Given the description of an element on the screen output the (x, y) to click on. 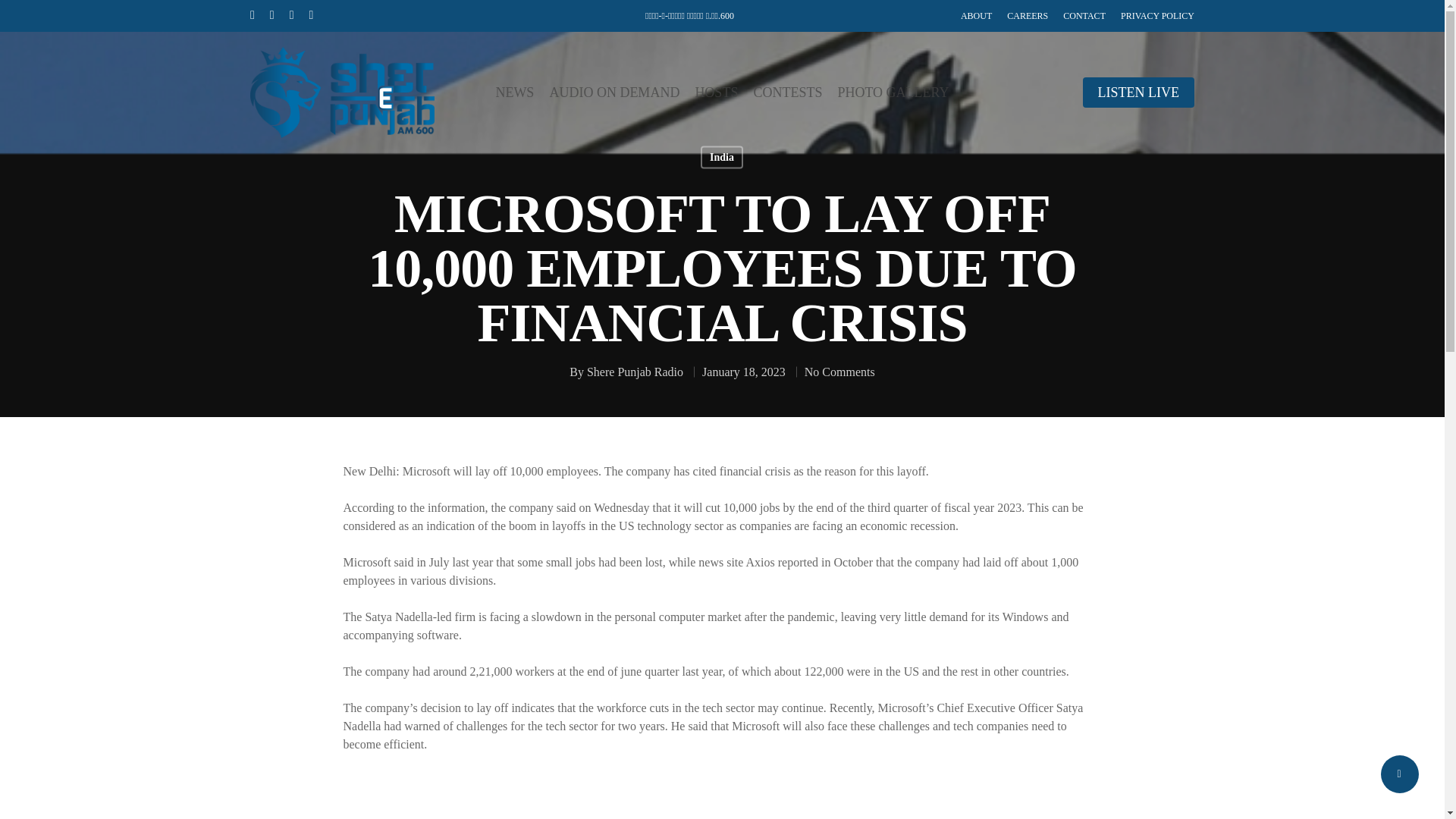
NEWS (514, 92)
No Comments (840, 371)
AUDIO ON DEMAND (613, 92)
India (721, 156)
HOSTS (716, 92)
ABOUT (975, 15)
CAREERS (1027, 15)
Posts by Shere Punjab Radio (634, 371)
LISTEN LIVE (1138, 92)
CONTACT (1083, 15)
